Given the description of an element on the screen output the (x, y) to click on. 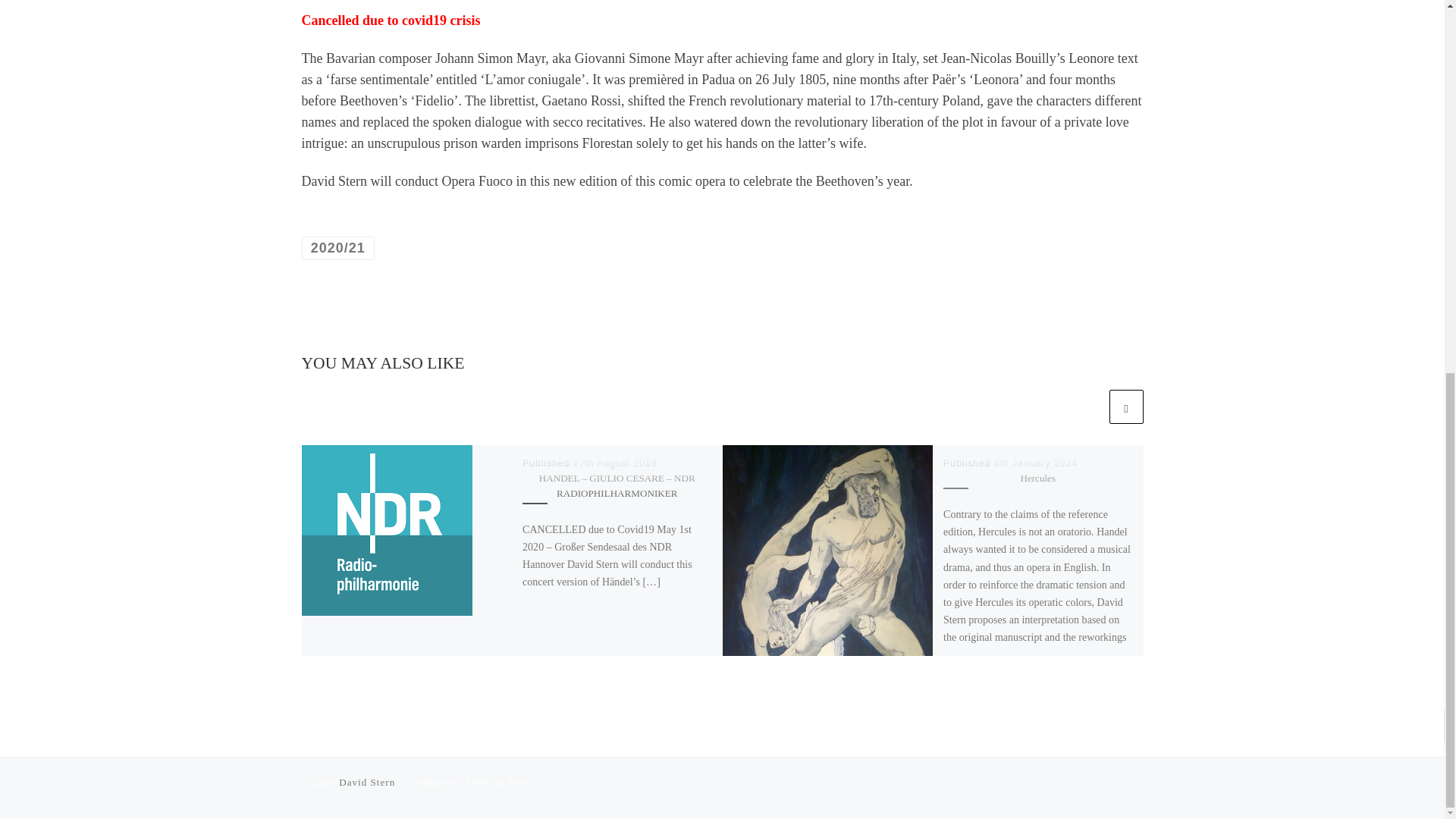
Previous related articles (1088, 406)
8th January 2024 (1035, 462)
David Stern (366, 781)
Hercules (1037, 478)
27th August 2019 (615, 462)
Next related articles (1125, 406)
